Given the description of an element on the screen output the (x, y) to click on. 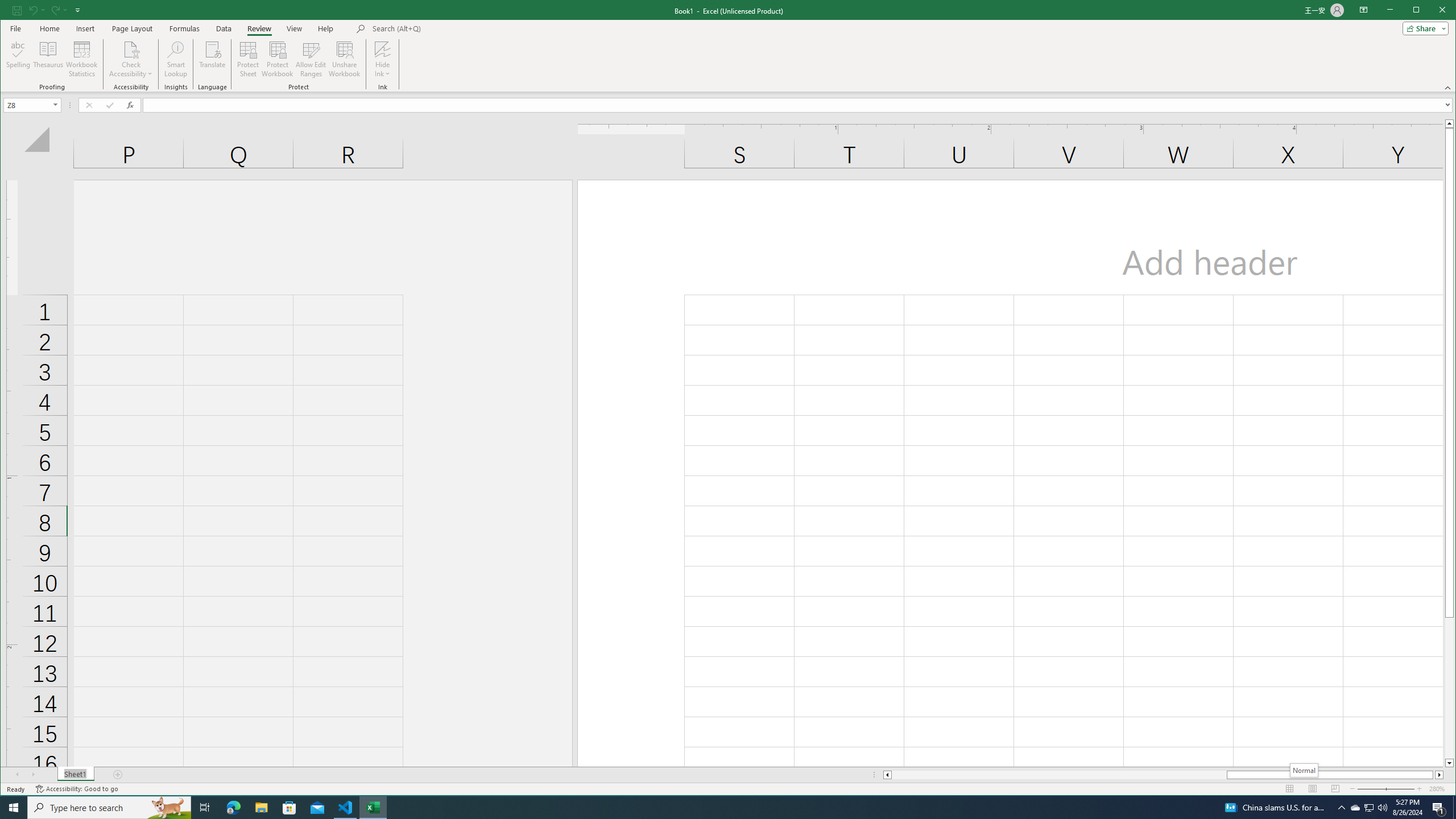
Microsoft Store (289, 807)
Maximize (1432, 11)
